Given the description of an element on the screen output the (x, y) to click on. 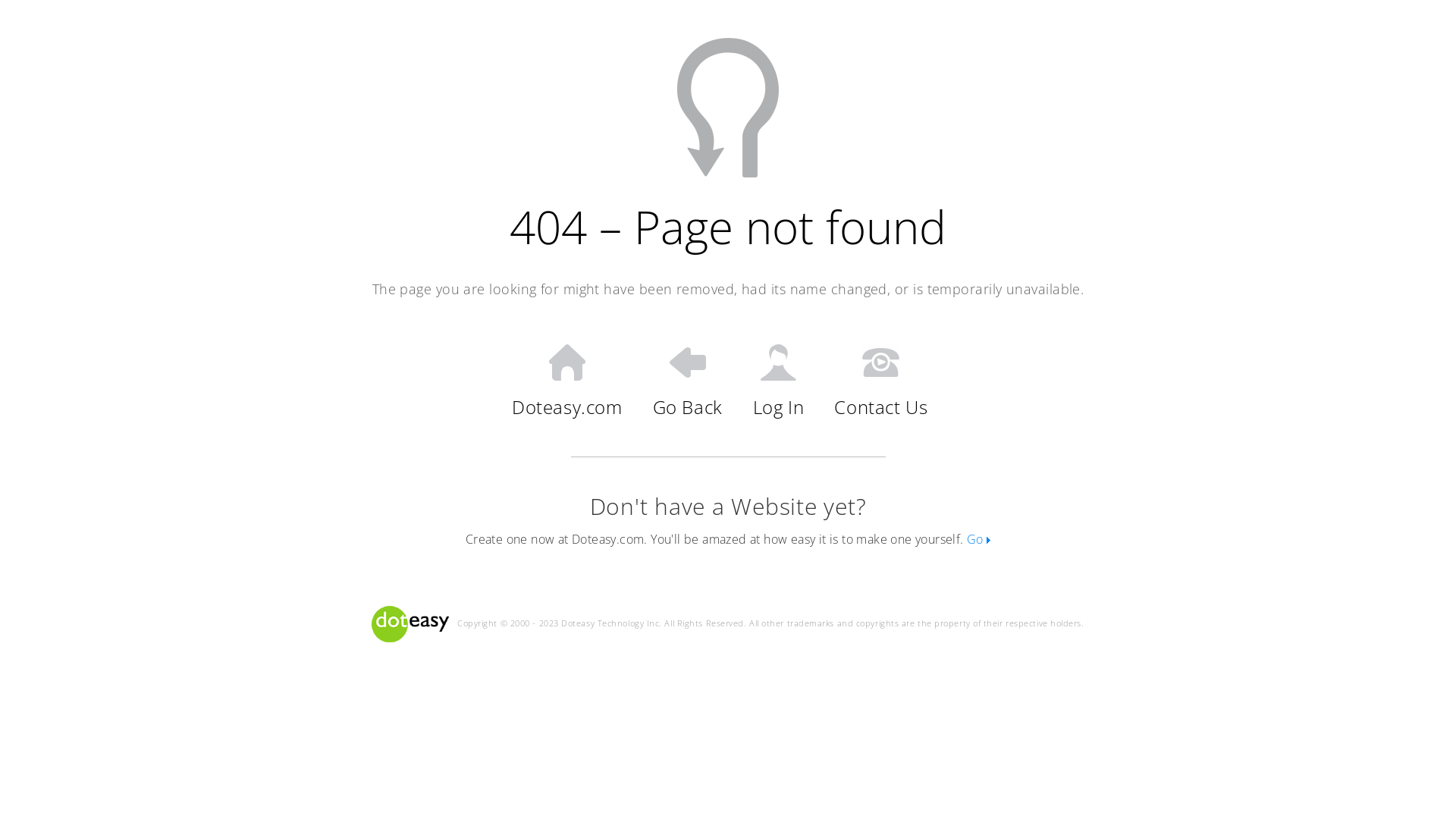
Doteasy.com Element type: text (566, 381)
Go Back Element type: text (687, 381)
Go Element type: text (978, 538)
Log In Element type: text (778, 381)
Contact Us Element type: text (880, 381)
